Given the description of an element on the screen output the (x, y) to click on. 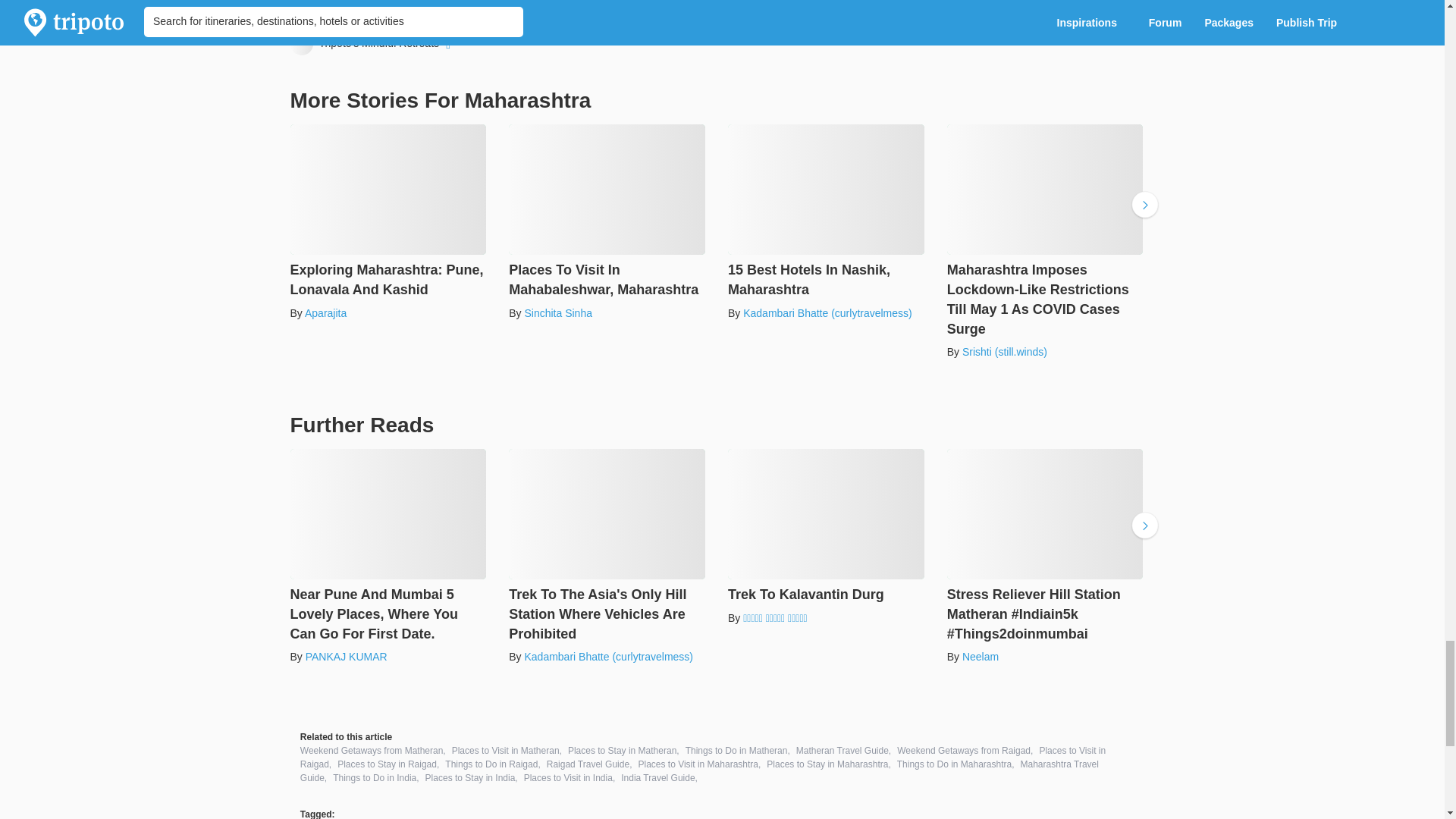
Get Quotes (526, 15)
Exploring Maharashtra: Pune, Lonavala And Kashid (387, 212)
Aparajita (325, 313)
Tripoto'S Mindful Retreats (371, 43)
